Given the description of an element on the screen output the (x, y) to click on. 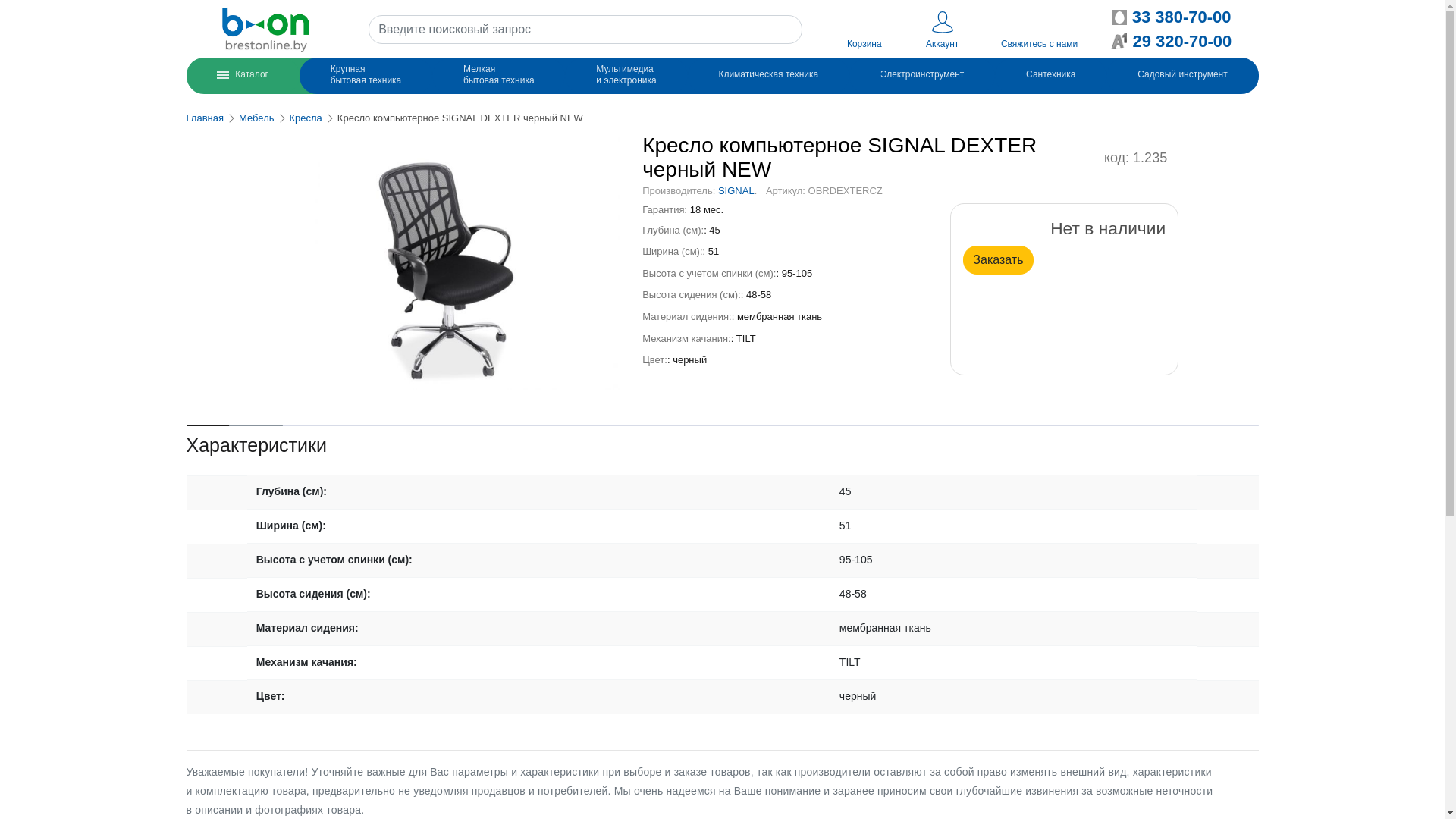
33 380-70-00 Element type: text (1171, 16)
b-on.by Element type: hover (265, 29)
SIGNAL Element type: text (736, 190)
29 320-70-00 Element type: text (1170, 41)
